Given the description of an element on the screen output the (x, y) to click on. 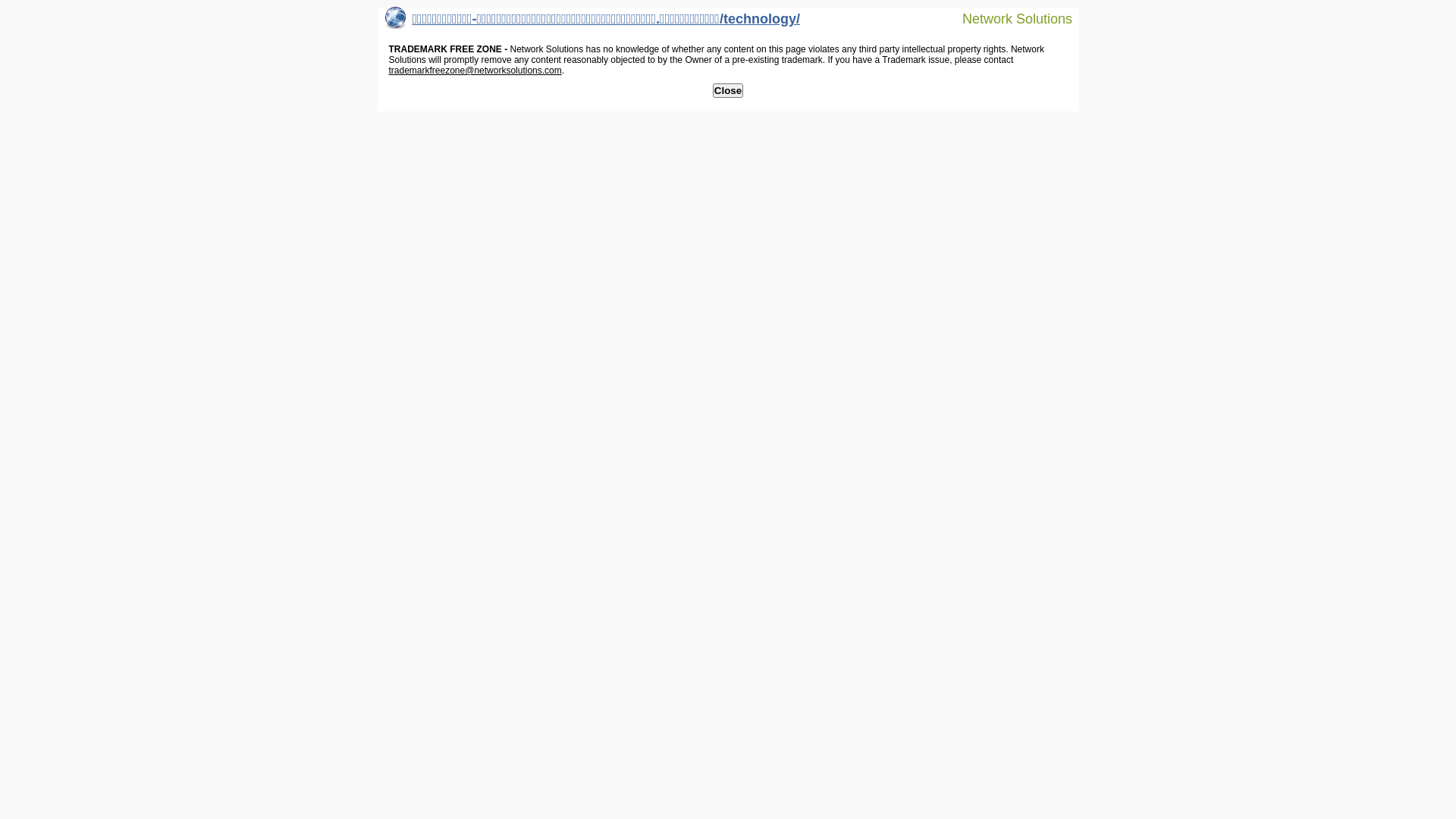
Close Element type: text (727, 90)
Network Solutions Element type: text (1007, 17)
trademarkfreezone@networksolutions.com Element type: text (474, 70)
